Given the description of an element on the screen output the (x, y) to click on. 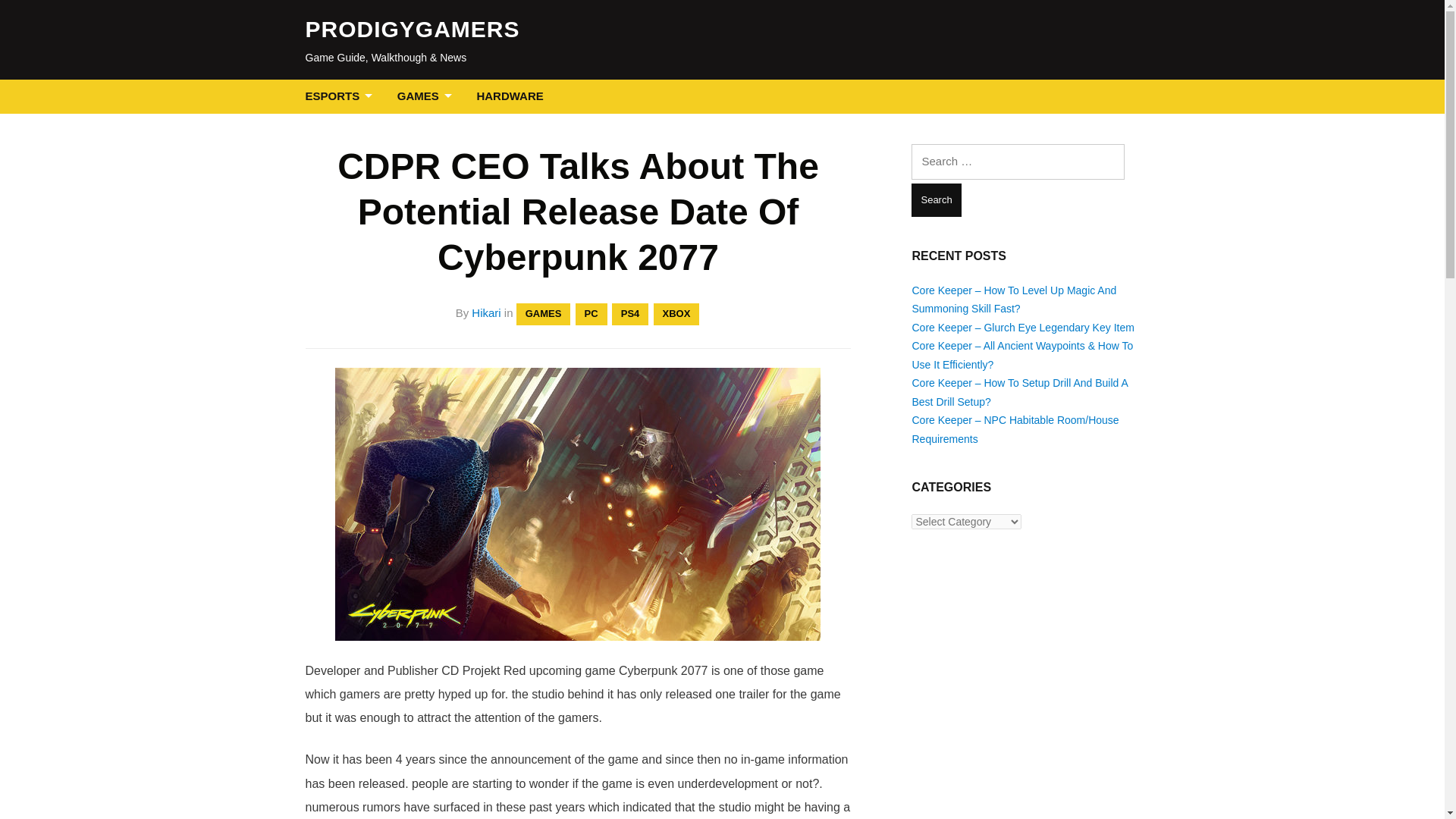
PRODIGYGAMERS (411, 28)
PC (591, 314)
XBOX (676, 314)
Search (935, 200)
GAMES (543, 314)
Posts by Hikari (485, 312)
PS4 (630, 314)
HARDWARE (509, 96)
ESPORTS (341, 96)
GAMES (427, 96)
